Given the description of an element on the screen output the (x, y) to click on. 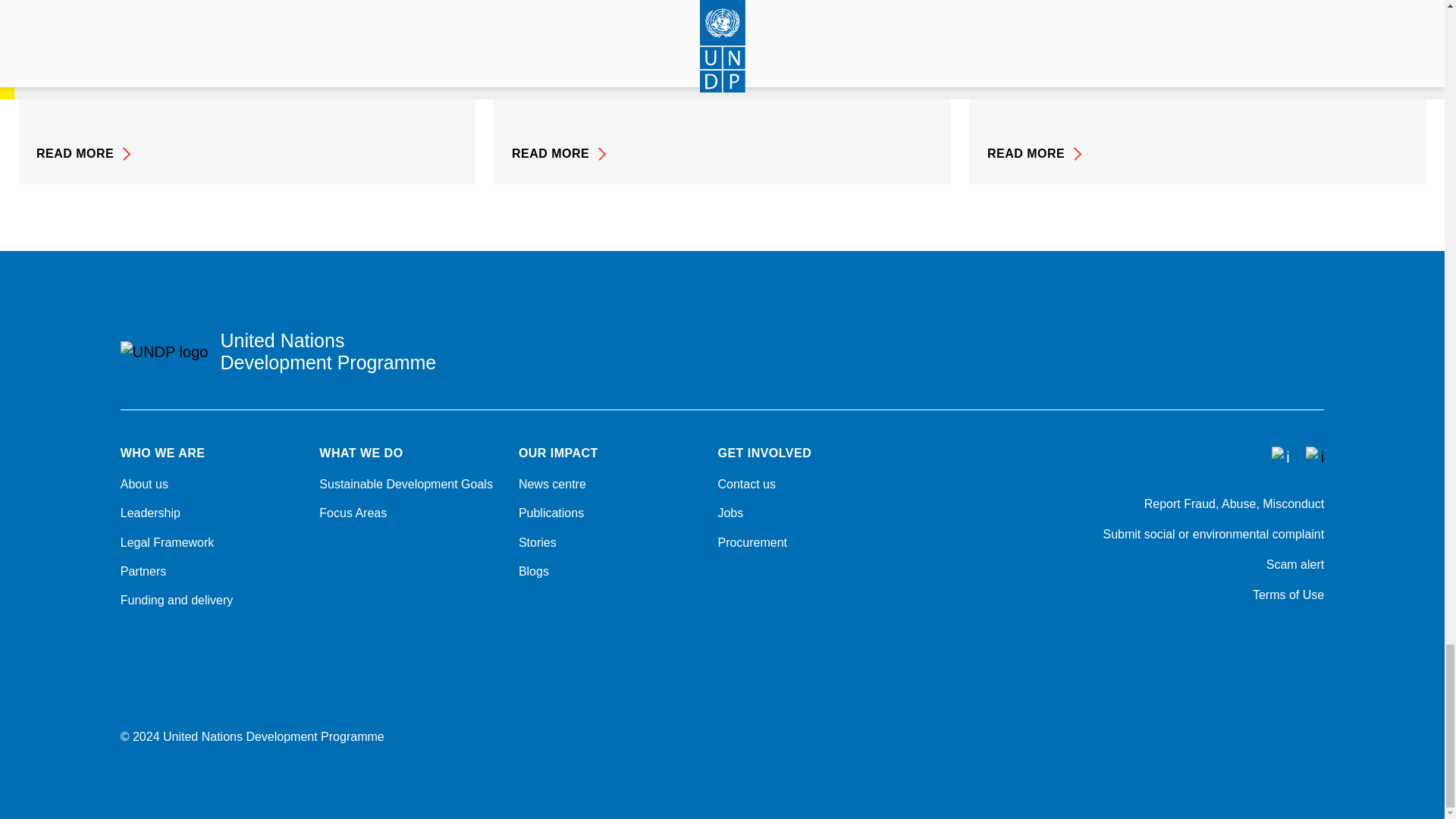
Focus Areas (409, 513)
Instagram (1276, 635)
About us (210, 484)
Facebook (1237, 635)
Leadership (210, 513)
WHO WE ARE (210, 453)
Legal Framework (210, 542)
WHAT WE DO (409, 453)
X (1158, 635)
Funding and delivery (210, 600)
Youtube (1315, 635)
Sustainable Development Goals (409, 484)
Partners (210, 571)
LinkedIn (1198, 635)
